Given the description of an element on the screen output the (x, y) to click on. 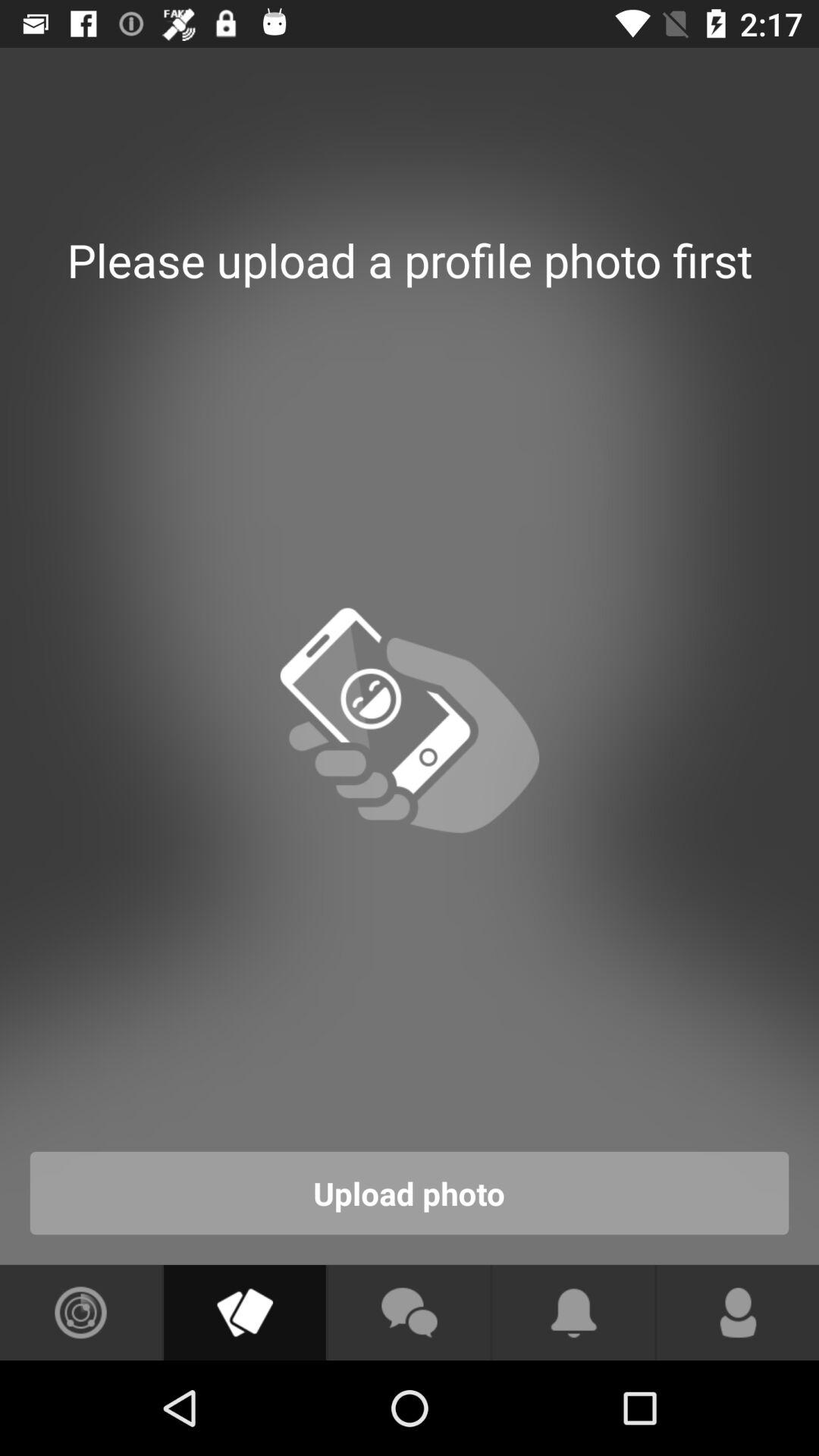
profile option (737, 1312)
